Given the description of an element on the screen output the (x, y) to click on. 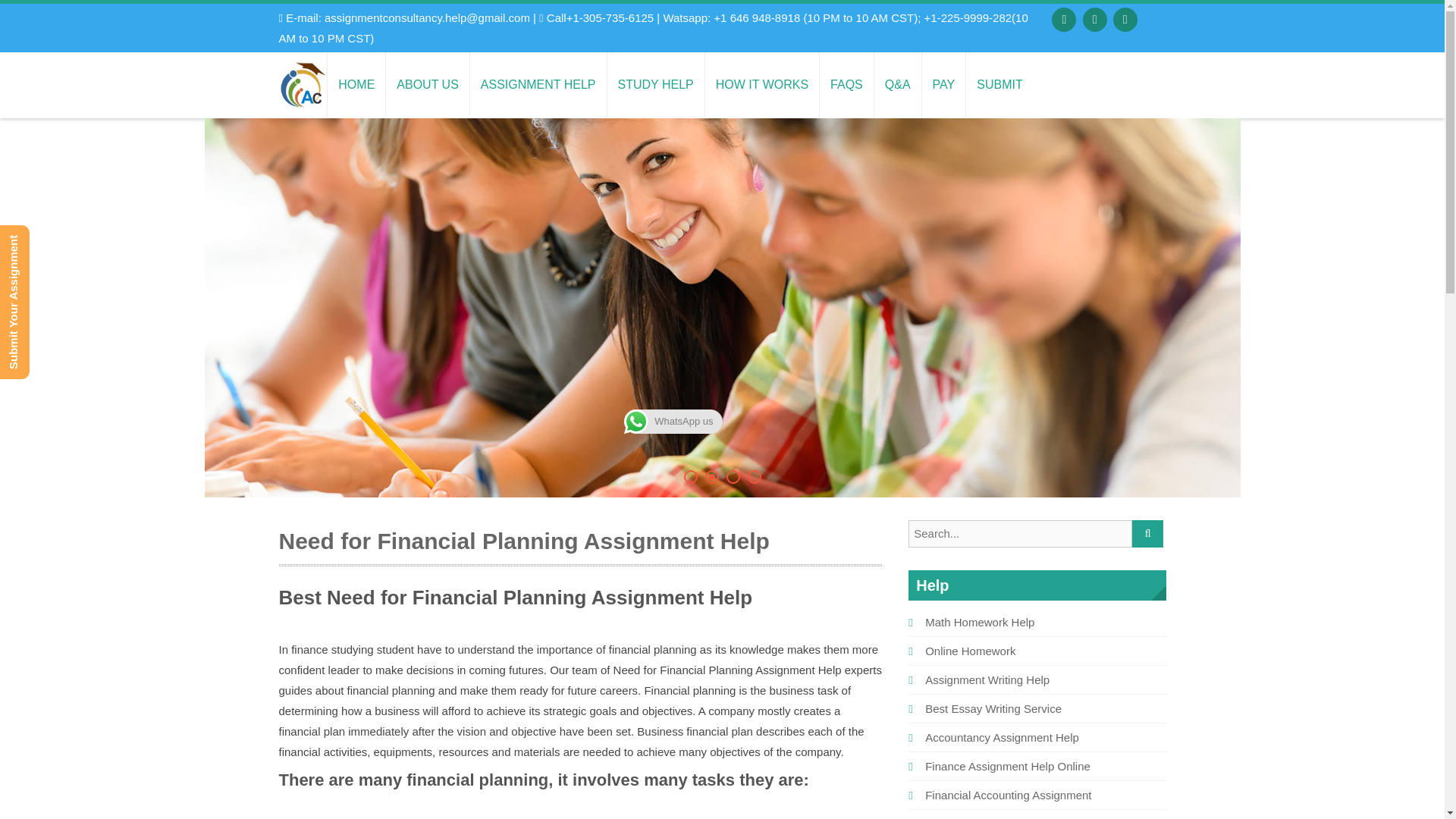
FAQS (845, 84)
1 (690, 477)
Online Homework (969, 650)
ASSIGNMENT HELP (537, 84)
Twitter (1094, 19)
3 (732, 477)
Math Homework Help (978, 621)
Accountancy Assignment Help (1001, 737)
Facebook (1063, 19)
Best Essay Writing Service (992, 707)
4 (754, 477)
Assignment Writing Help (986, 679)
Online Homework Help (845, 84)
Financial Accounting Assignment (1007, 794)
HOME (355, 84)
